Given the description of an element on the screen output the (x, y) to click on. 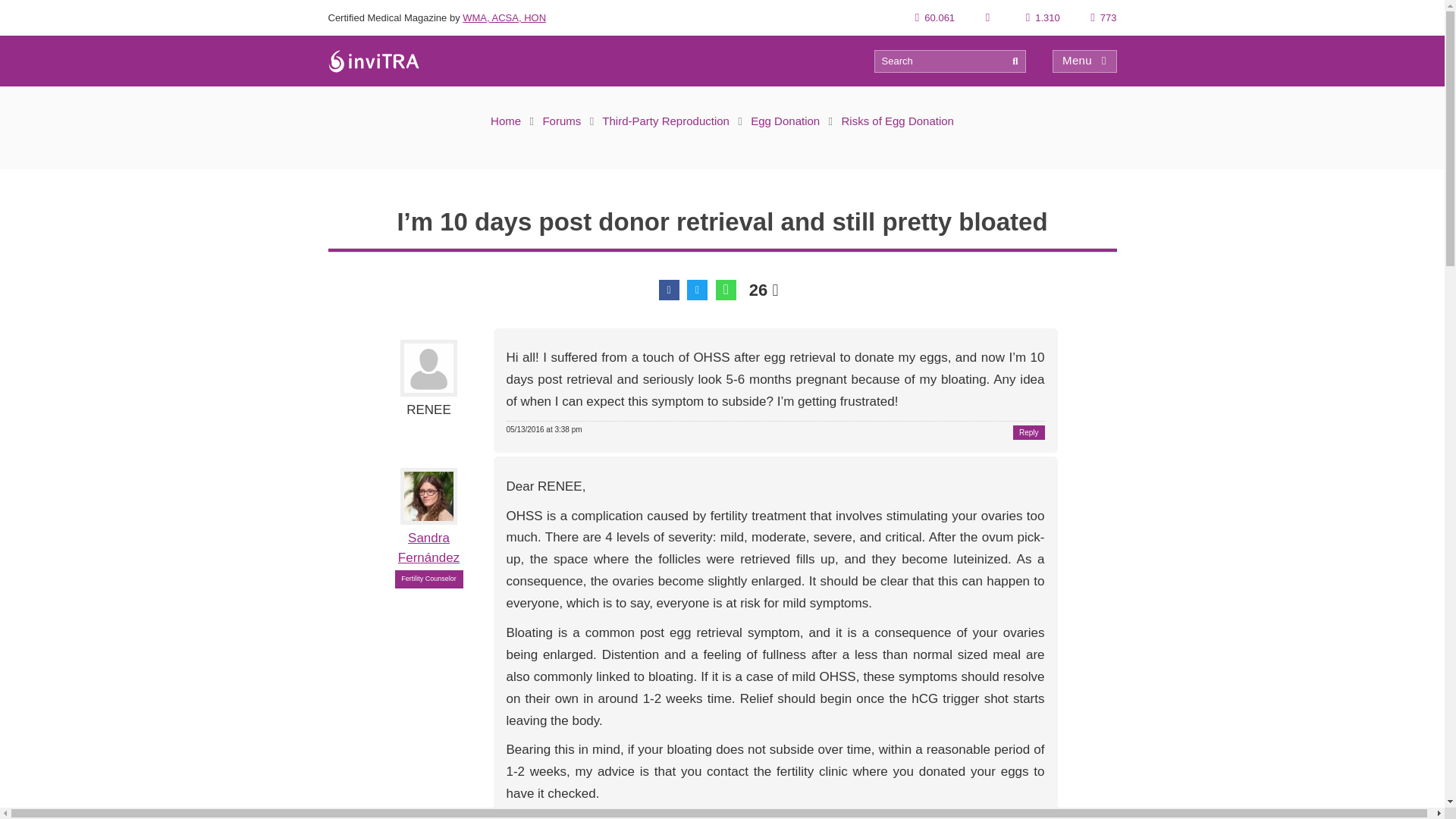
Share in facebook (669, 289)
773 Followers on Instagram (1103, 17)
60.061 Fans on Facebook (935, 17)
1.310 (1042, 17)
inviTRA (373, 60)
773 (1103, 17)
Share in WhatsApp (726, 289)
Menu (1084, 60)
Share in Twitter (697, 289)
1.310 Subscribed on Youtube (1042, 17)
60.061 (935, 17)
WMA, ACSA, HON (504, 17)
Menu (1084, 60)
